Given the description of an element on the screen output the (x, y) to click on. 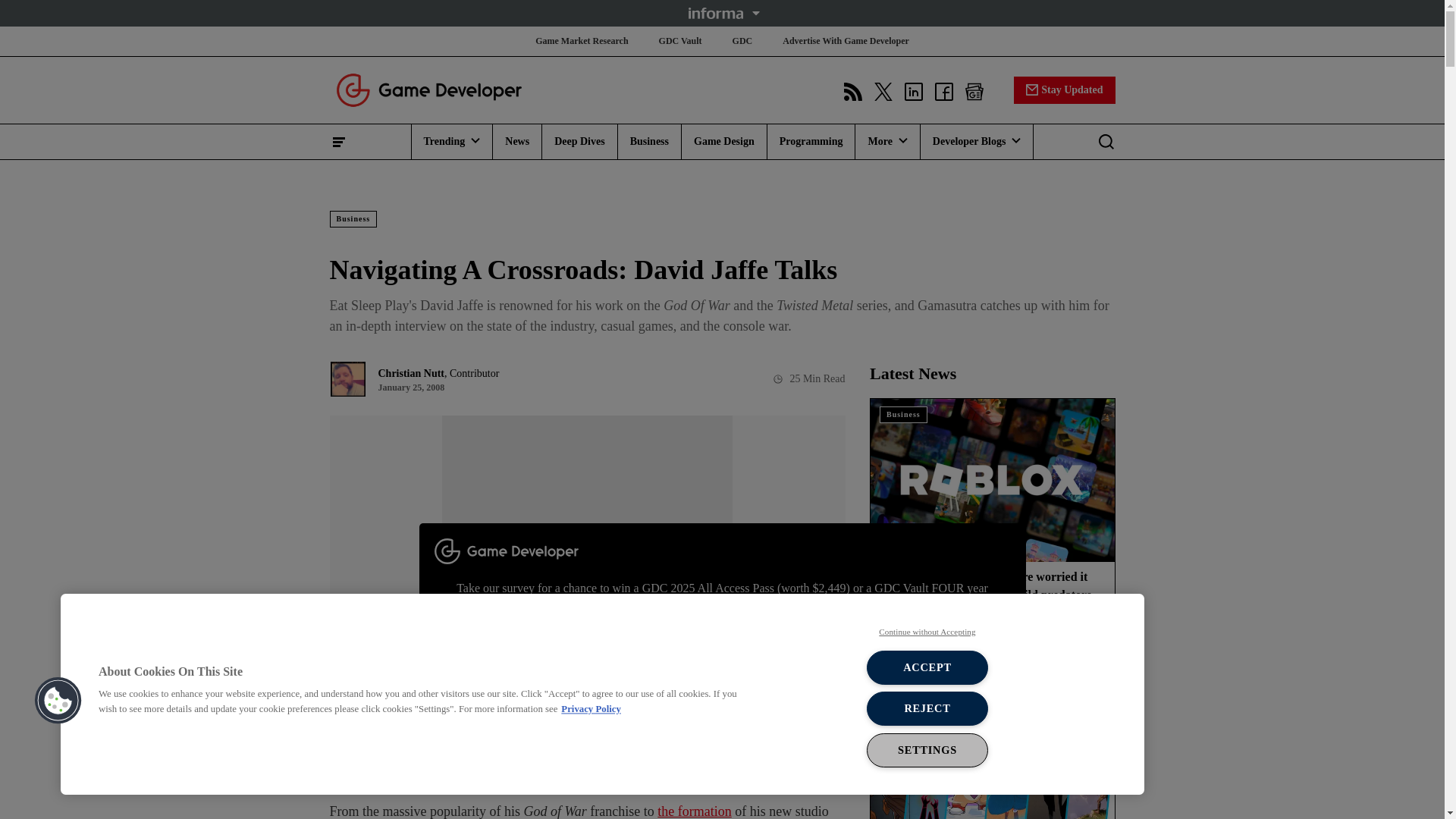
GDC (742, 41)
Cookies Button (57, 700)
News (517, 141)
GDC Vault (680, 41)
Advertise With Game Developer (845, 41)
Game Market Research (581, 41)
Stay Updated (1064, 89)
Game Design (724, 141)
Game Developer Logo (428, 90)
Programming (810, 141)
Deep Dives (579, 141)
Picture of Christian Nutt (347, 379)
Business (649, 141)
